Given the description of an element on the screen output the (x, y) to click on. 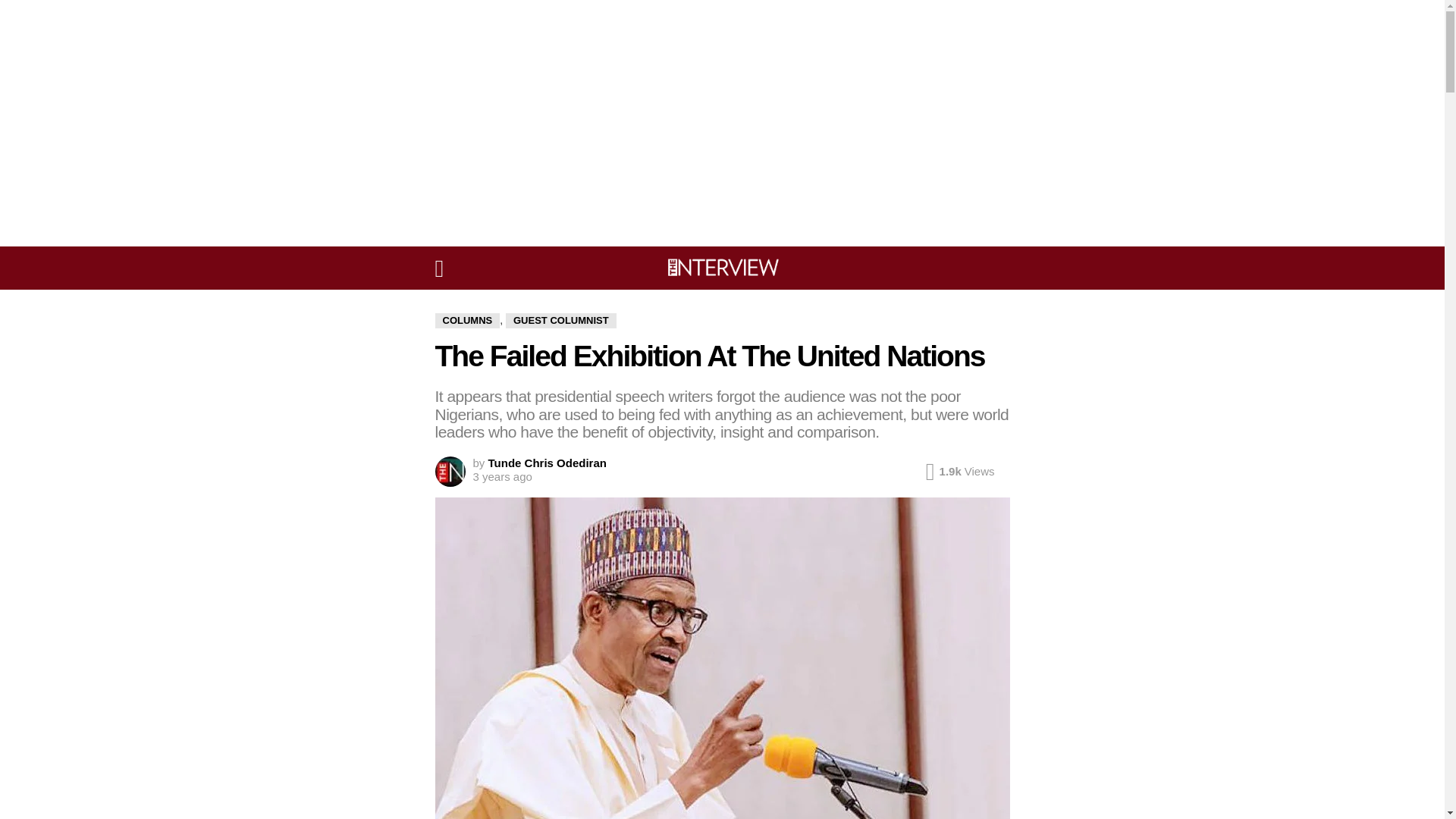
Tunde Chris Odediran (547, 462)
Posts by Tunde Chris Odediran (547, 462)
COLUMNS (467, 320)
GUEST COLUMNIST (560, 320)
